Given the description of an element on the screen output the (x, y) to click on. 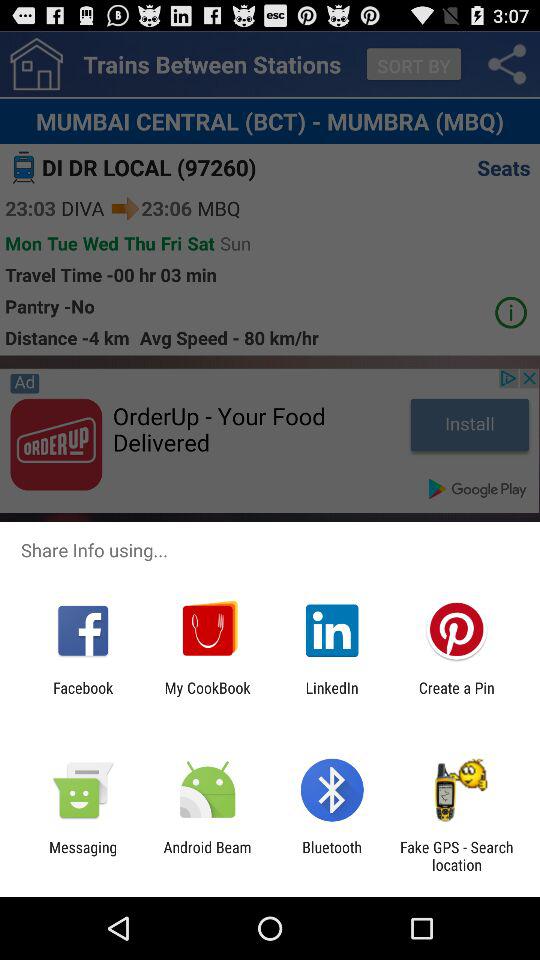
open fake gps search icon (456, 856)
